Given the description of an element on the screen output the (x, y) to click on. 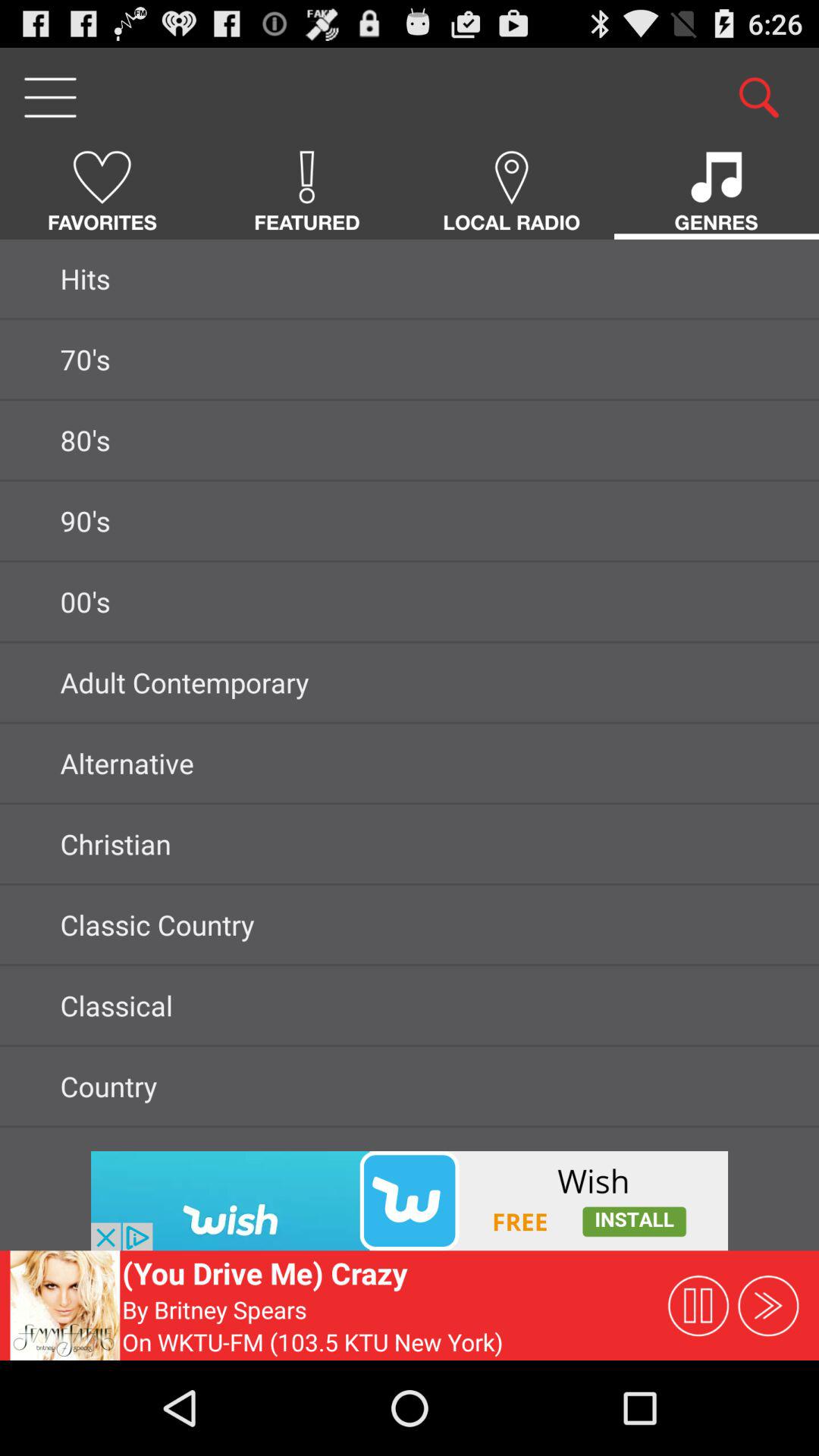
go to menu botten (49, 97)
